Given the description of an element on the screen output the (x, y) to click on. 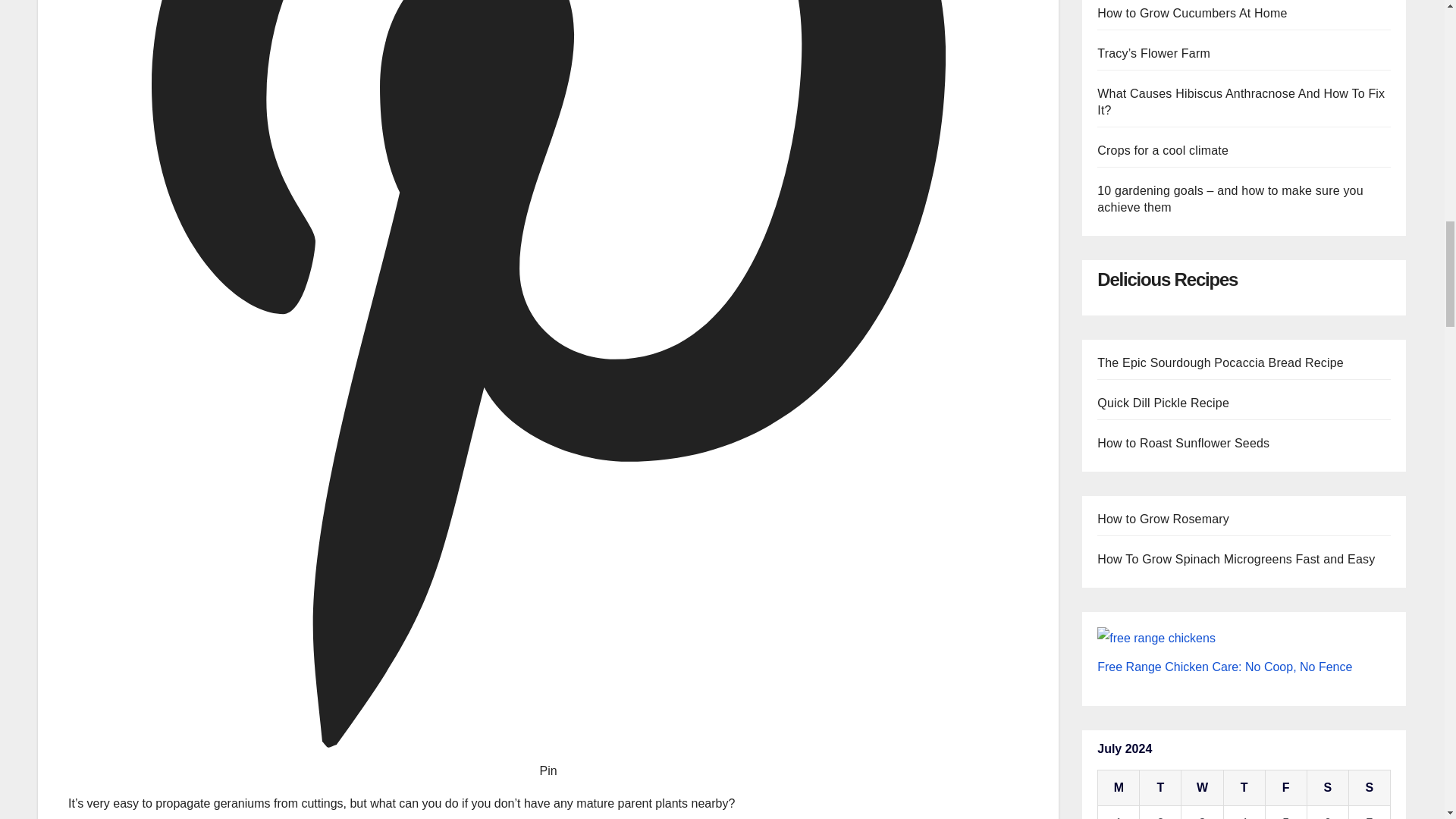
Saturday (1327, 787)
Friday (1285, 787)
Tuesday (1160, 787)
Thursday (1244, 787)
Wednesday (1201, 787)
Monday (1118, 787)
Sunday (1369, 787)
